Given the description of an element on the screen output the (x, y) to click on. 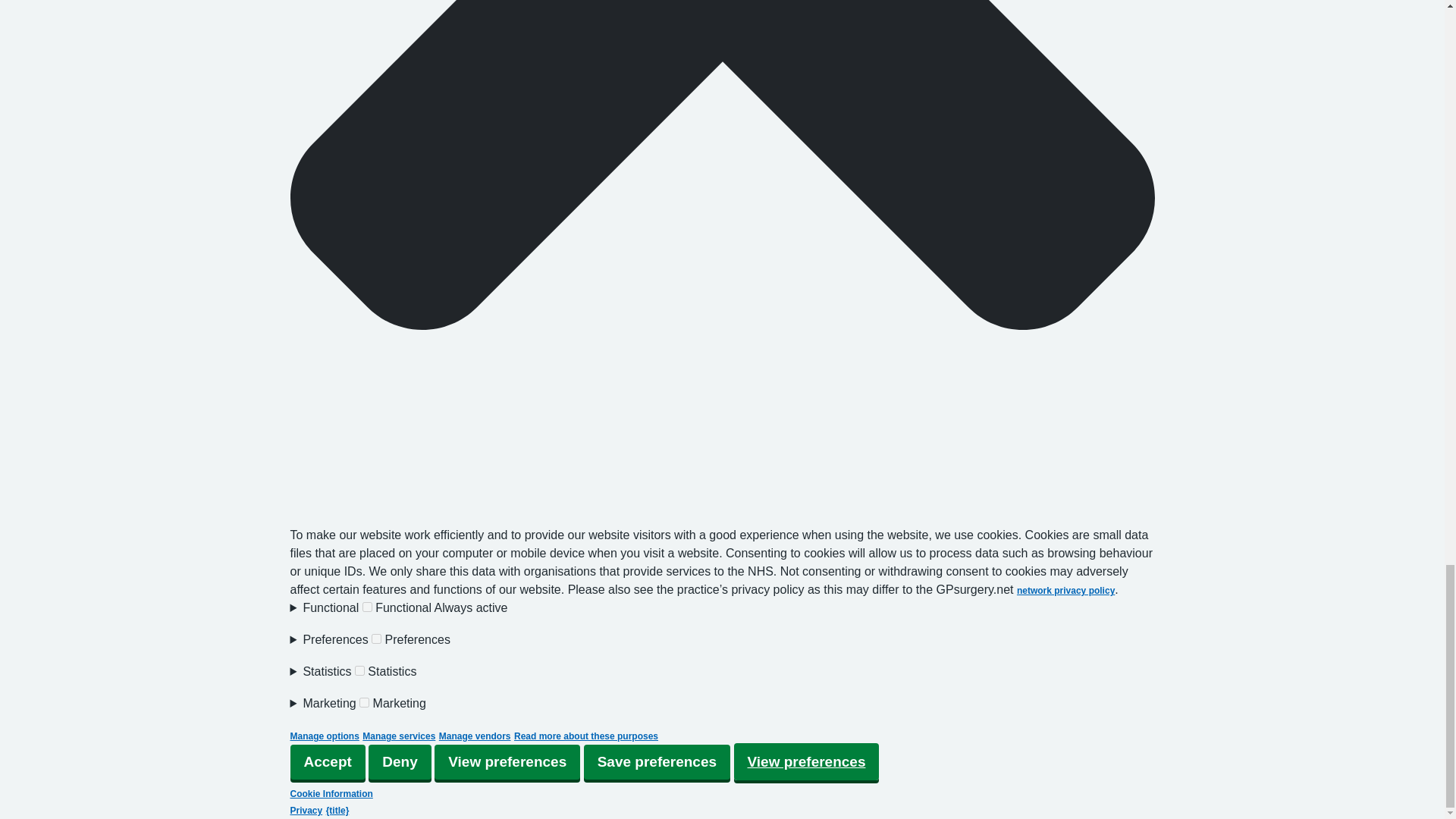
1 (367, 606)
Manage services (398, 736)
1 (376, 638)
Manage vendors (475, 736)
network privacy policy (1065, 590)
Manage options (323, 736)
1 (364, 702)
Read more about these purposes (585, 736)
1 (360, 670)
